Given the description of an element on the screen output the (x, y) to click on. 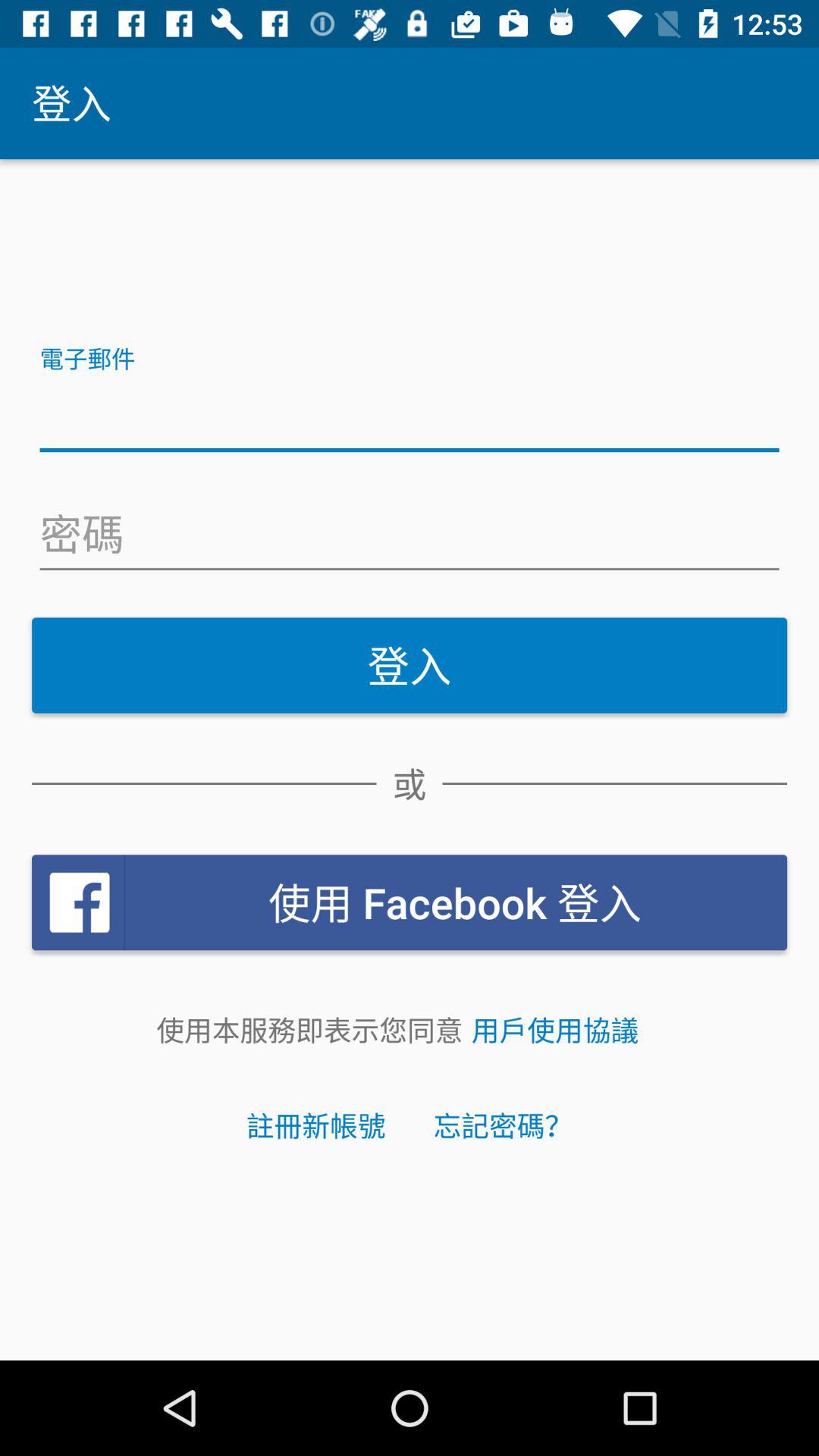
launch item at the bottom right corner (554, 1029)
